Given the description of an element on the screen output the (x, y) to click on. 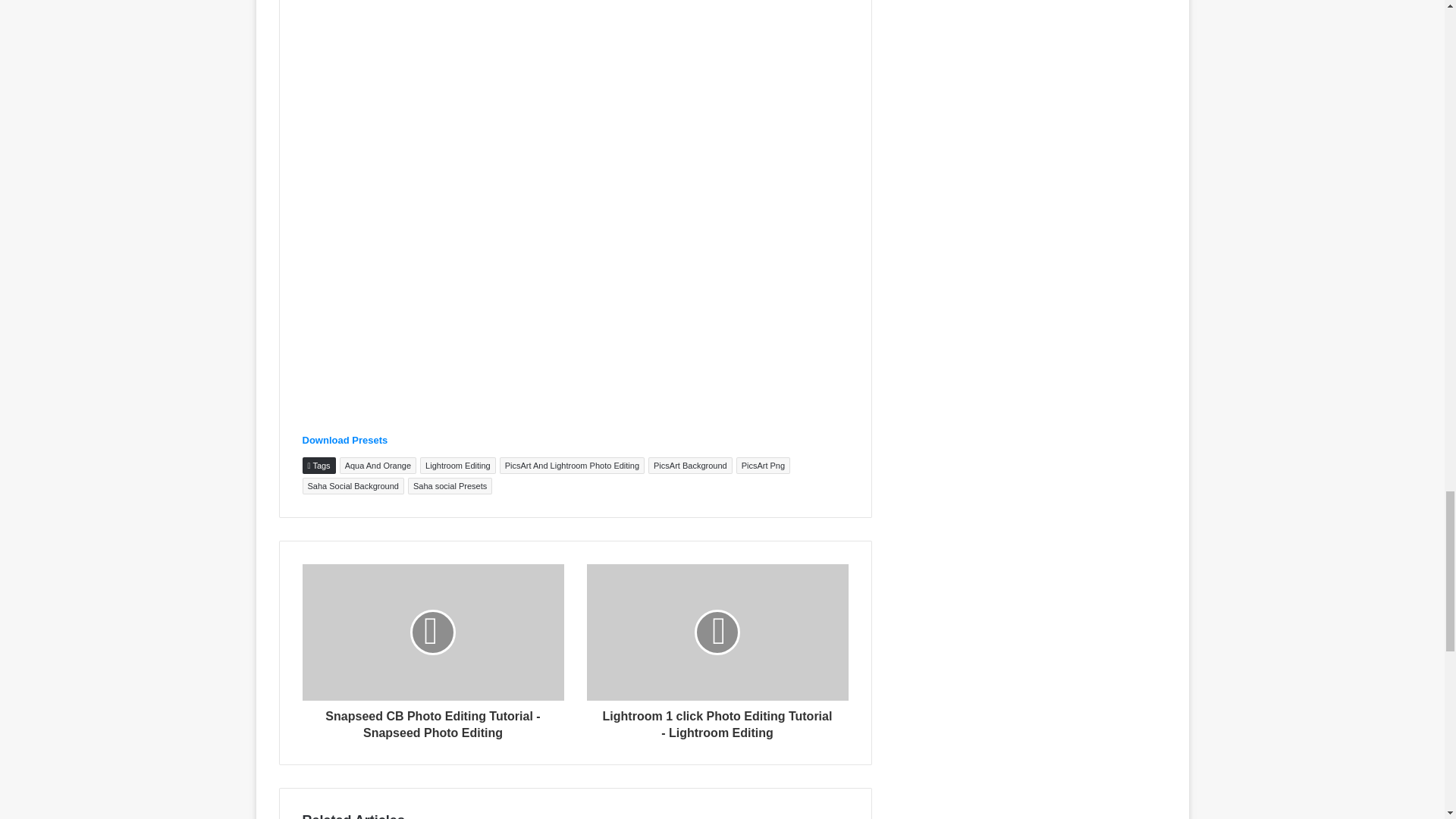
PicsArt Png (763, 465)
Saha Social Background (352, 485)
Lightroom Editing (458, 465)
Download Presets (344, 439)
PicsArt And Lightroom Photo Editing (572, 465)
PicsArt Background (689, 465)
Saha social Presets (449, 485)
Aqua And Orange (377, 465)
